Given the description of an element on the screen output the (x, y) to click on. 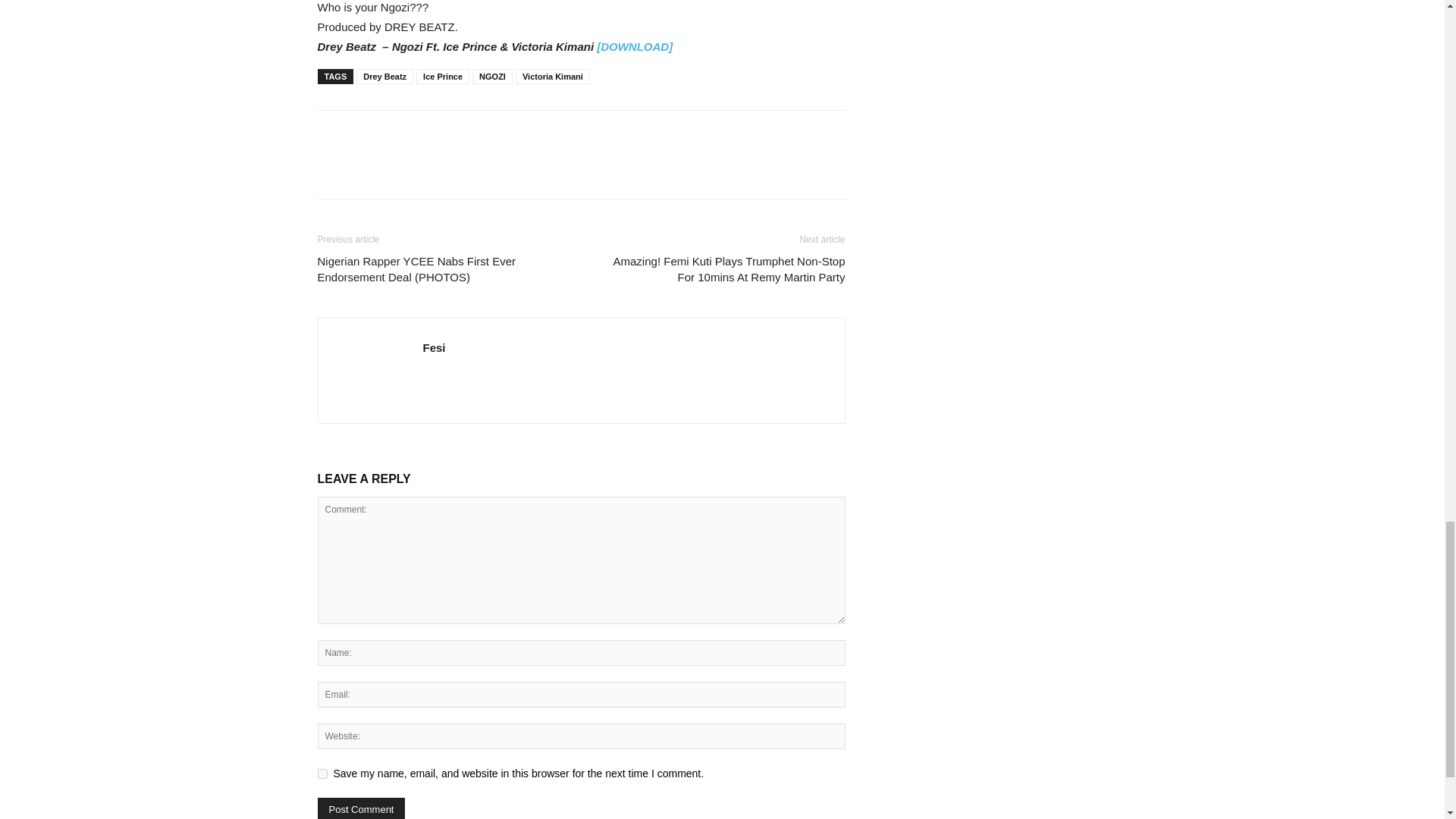
bottomFacebookLike (430, 134)
Post Comment (360, 808)
yes (321, 773)
